Given the description of an element on the screen output the (x, y) to click on. 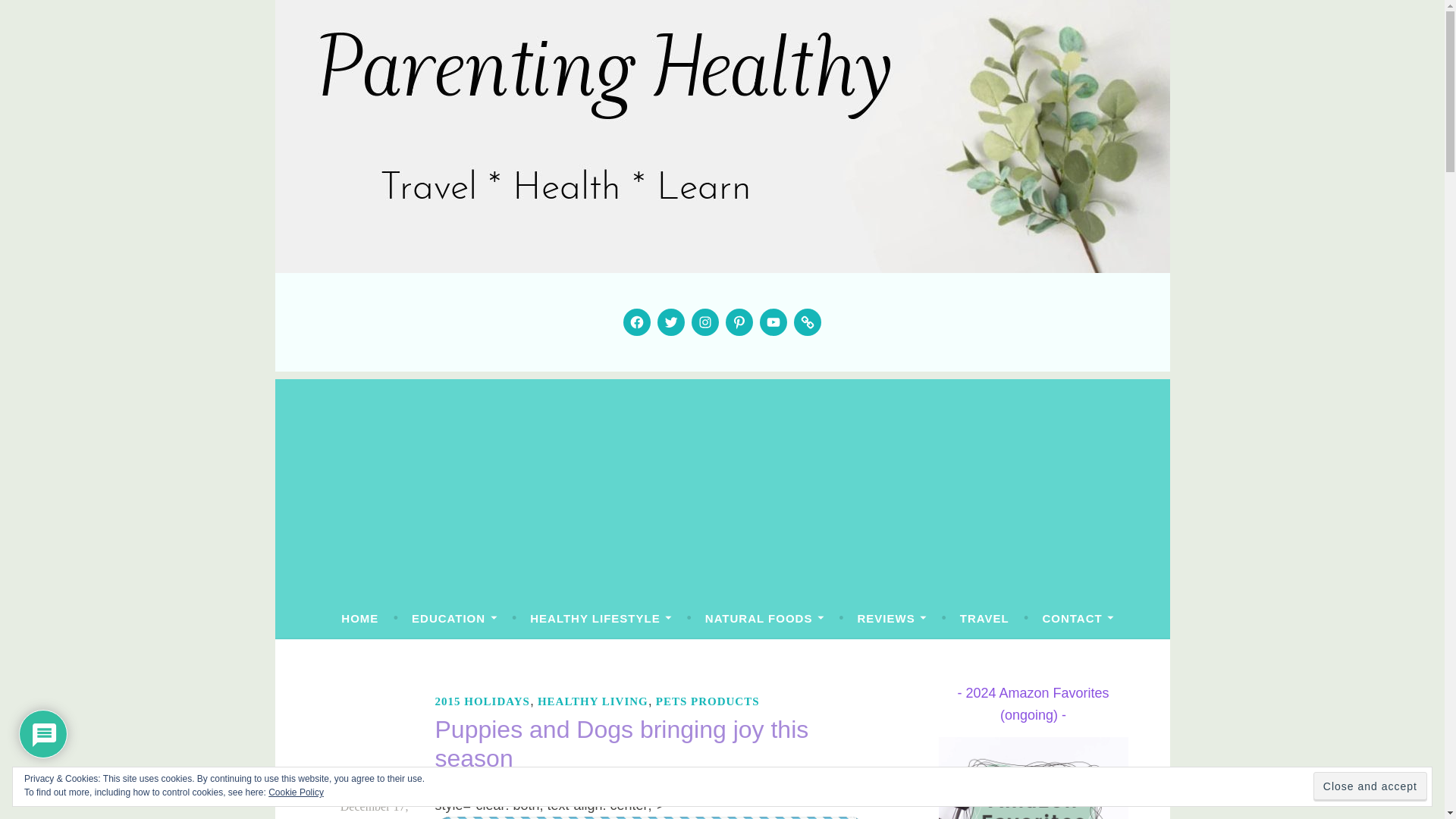
PETS PRODUCTS (708, 701)
CONTACT (1077, 618)
TRAVEL (984, 618)
2015 HOLIDAYS (482, 701)
Facebook (636, 322)
Instagram (705, 322)
YouTube (772, 322)
Close and accept (1369, 786)
REVIEWS (892, 618)
HOME (359, 618)
HEALTHY LIFESTYLE (600, 618)
HEALTHY LIVING (592, 701)
EDUCATION (454, 618)
NATURAL FOODS (764, 618)
